Given the description of an element on the screen output the (x, y) to click on. 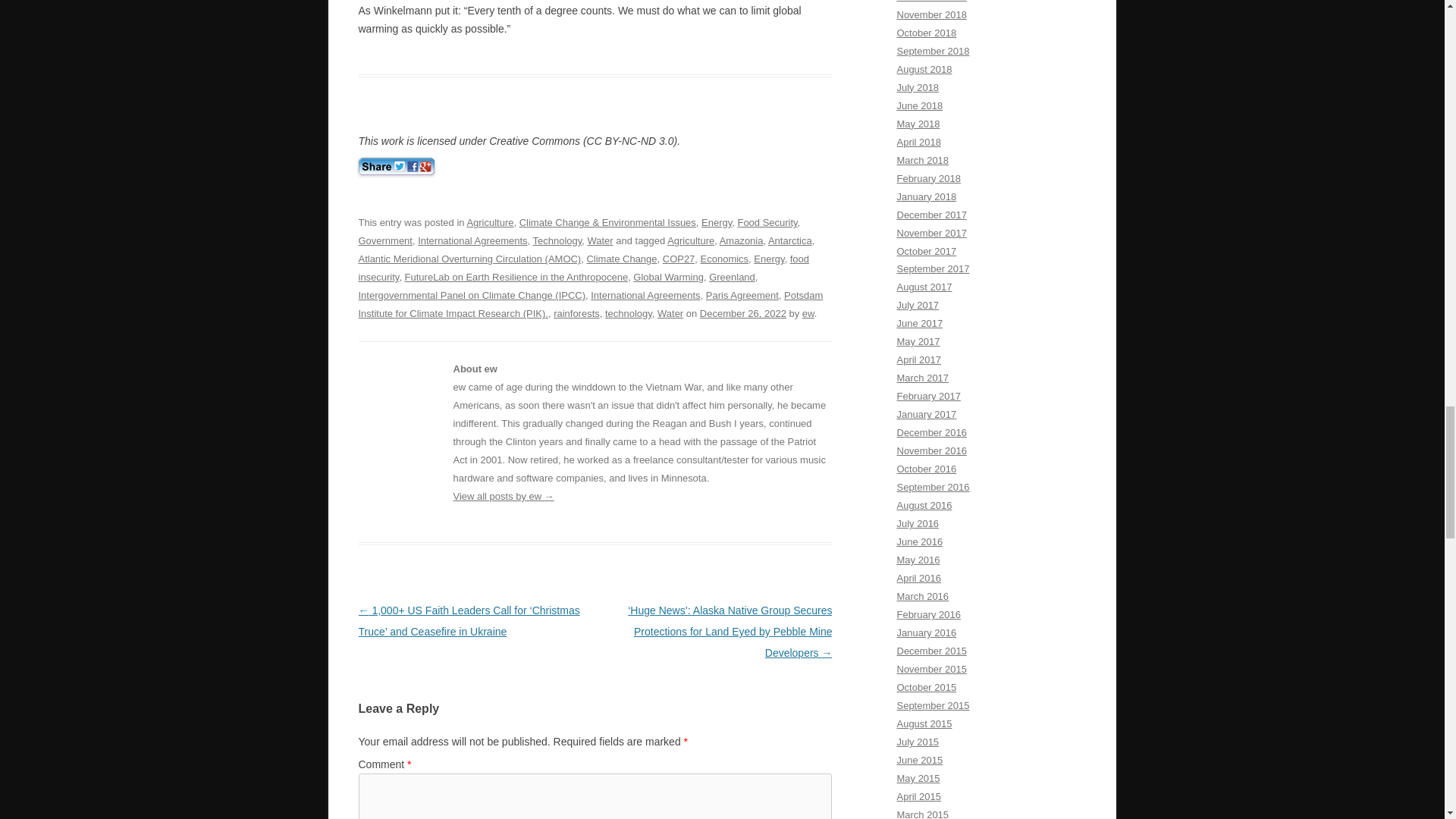
Food Security (766, 222)
6:30 am (743, 313)
Government (385, 240)
Technology (557, 240)
International Agreements (472, 240)
Agriculture (489, 222)
Water (599, 240)
Energy (716, 222)
View all posts by ew (807, 313)
Agriculture (690, 240)
